Given the description of an element on the screen output the (x, y) to click on. 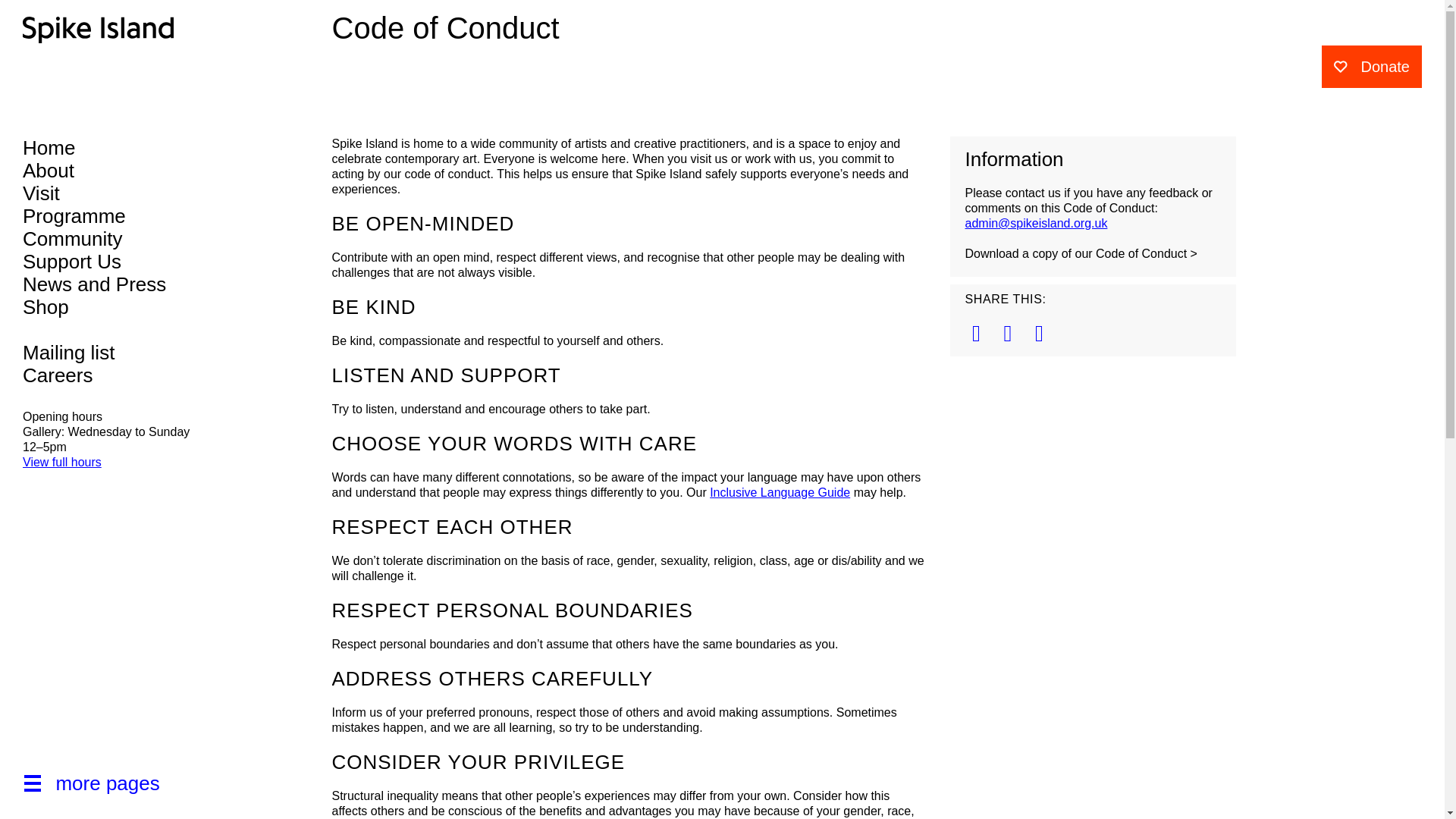
Home (117, 147)
Shop (117, 306)
Mailing list (117, 352)
About (117, 169)
Visit (117, 192)
Donate (1371, 66)
more pages (125, 792)
Community (117, 238)
Programme (117, 215)
Careers (117, 374)
Support Us (117, 261)
News and Press (117, 283)
View full hours (62, 462)
